Given the description of an element on the screen output the (x, y) to click on. 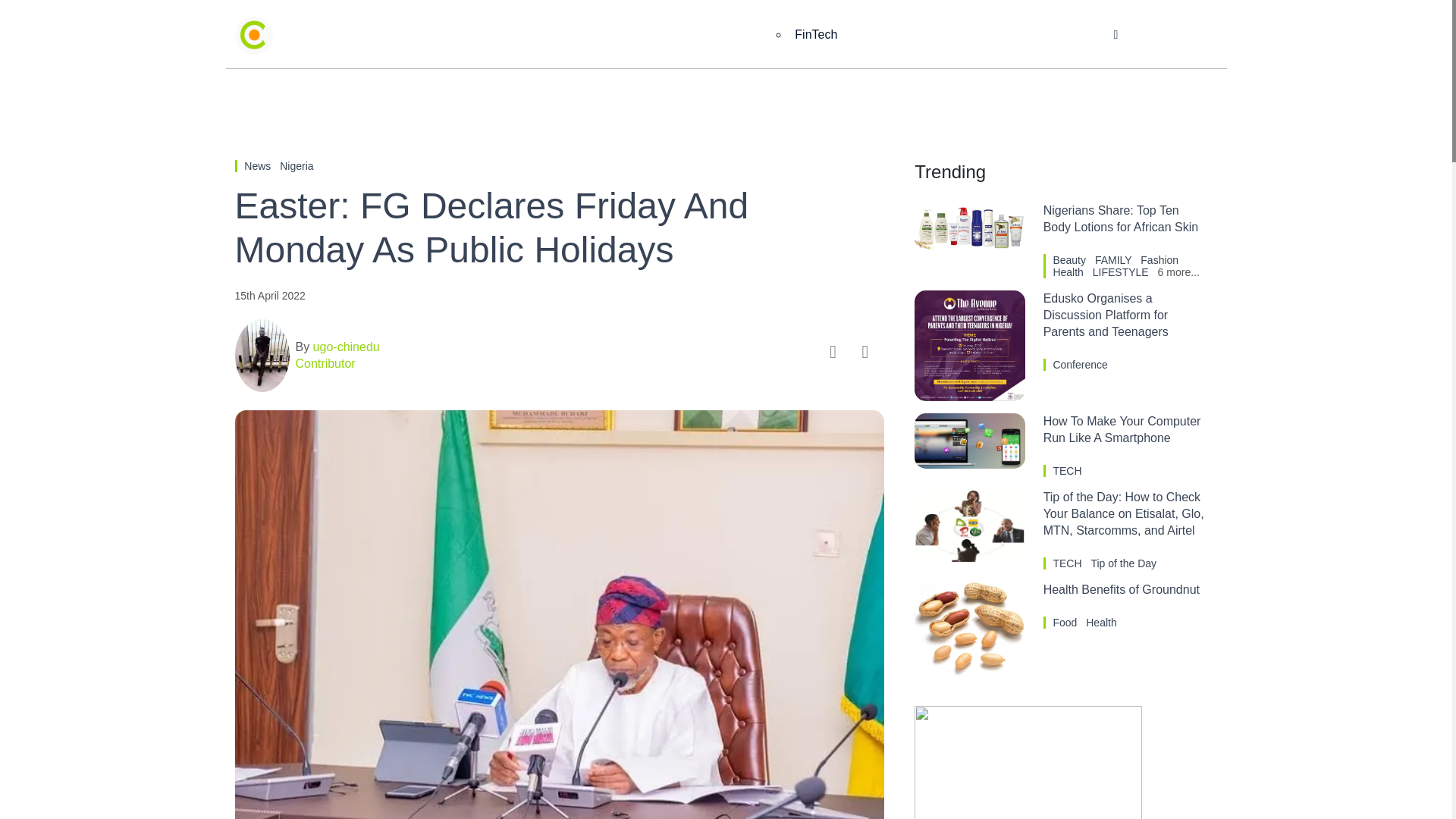
Home (469, 34)
Entertainment (646, 34)
Nigeria (296, 165)
Politics (739, 34)
Business (547, 34)
Opportunities (1037, 34)
Easter: FG Declares Friday And Monday As Public Holidays (558, 227)
Opportunities (1037, 34)
Sports (866, 34)
Sports (866, 34)
